Given the description of an element on the screen output the (x, y) to click on. 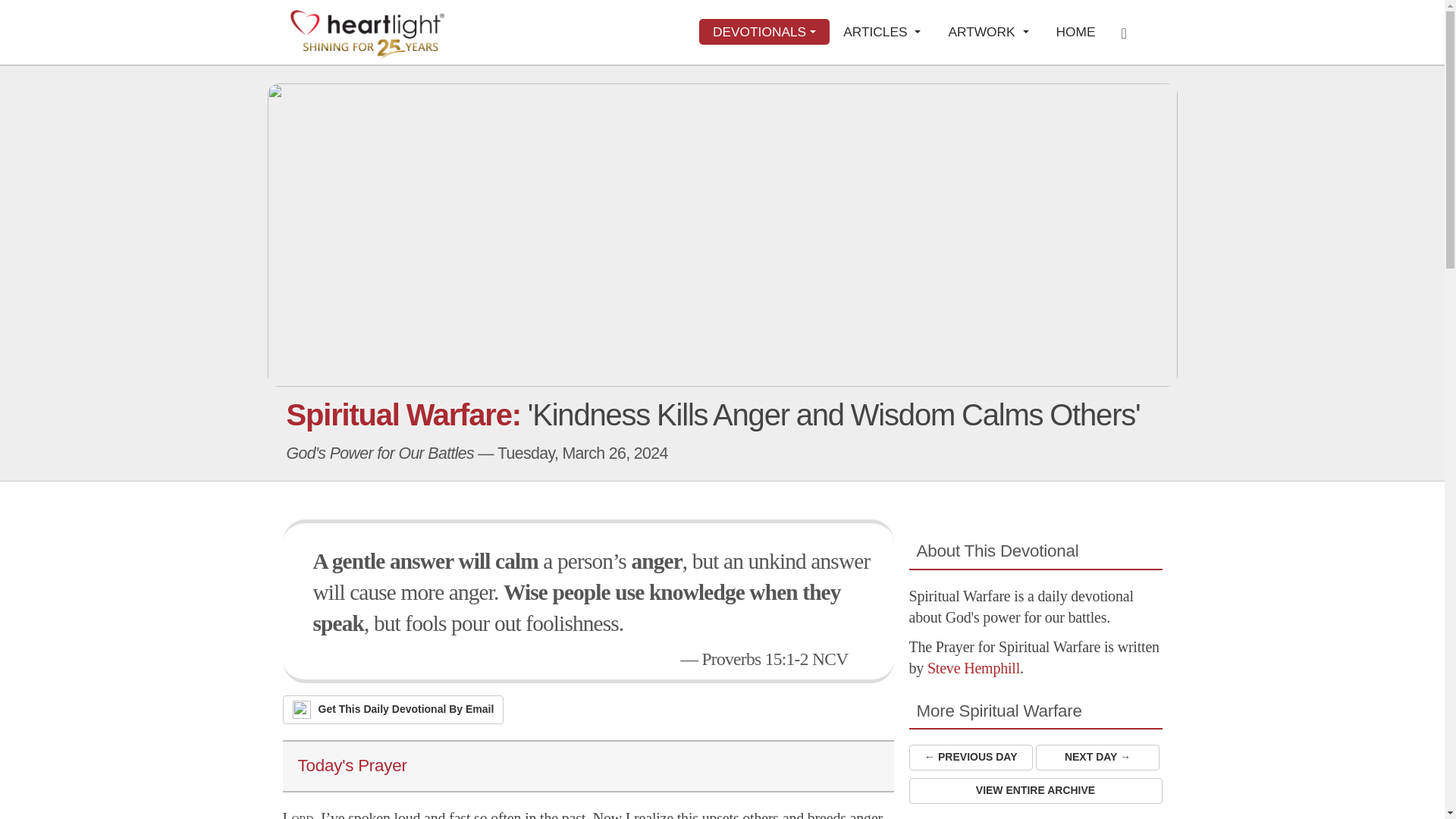
Heartlight - Home (367, 33)
HOME (1075, 31)
DEVOTIONALS (763, 31)
Search Heartlight (1127, 32)
ARTICLES (881, 31)
ARTWORK (988, 31)
